Given the description of an element on the screen output the (x, y) to click on. 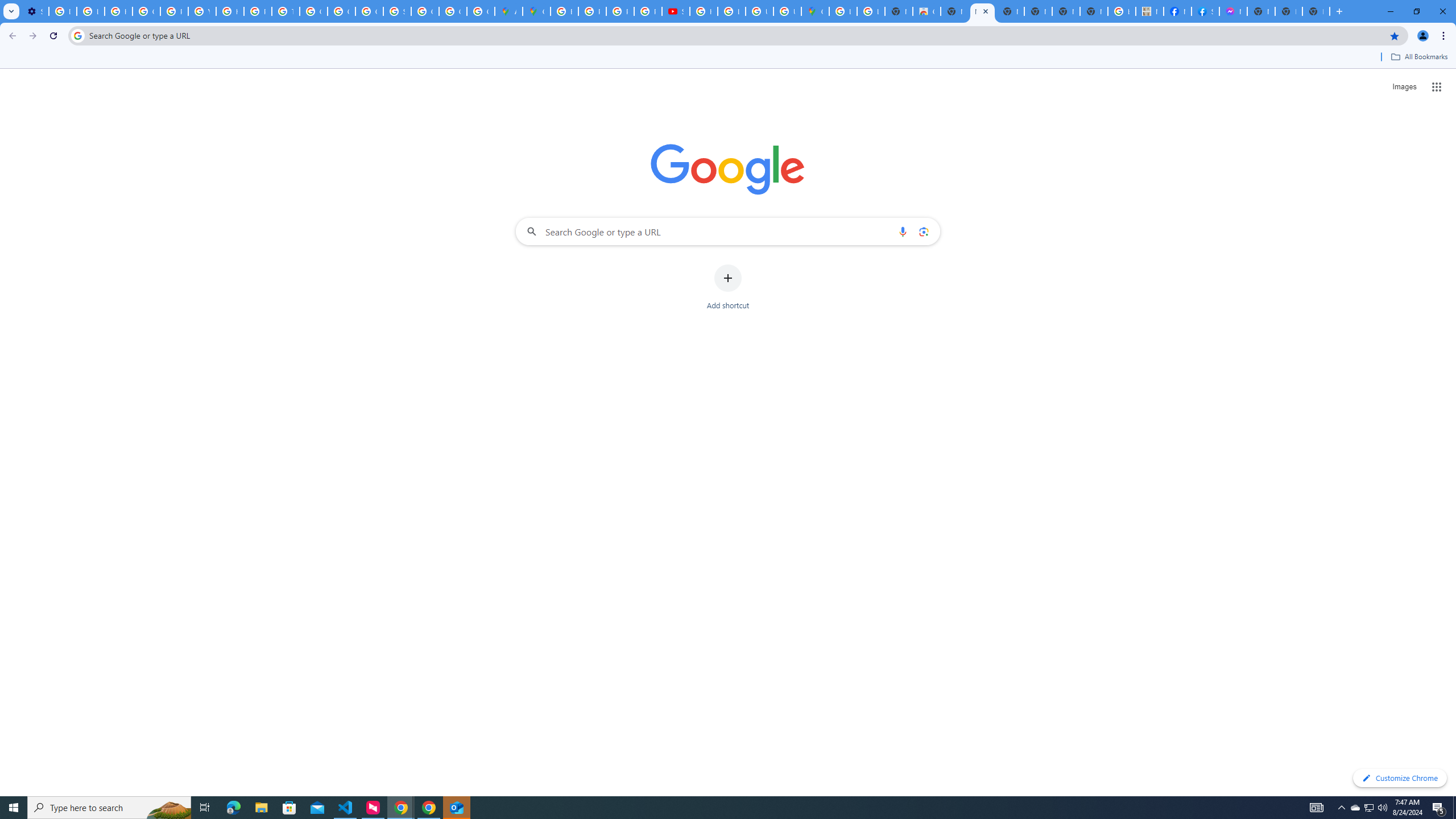
Chrome Web Store (926, 11)
Sign in - Google Accounts (397, 11)
Delete photos & videos - Computer - Google Photos Help (62, 11)
Bookmarks (728, 58)
YouTube (202, 11)
Google Maps (815, 11)
Blogger Policies and Guidelines - Transparency Center (564, 11)
https://scholar.google.com/ (229, 11)
Learn how to find your photos - Google Photos Help (90, 11)
